Given the description of an element on the screen output the (x, y) to click on. 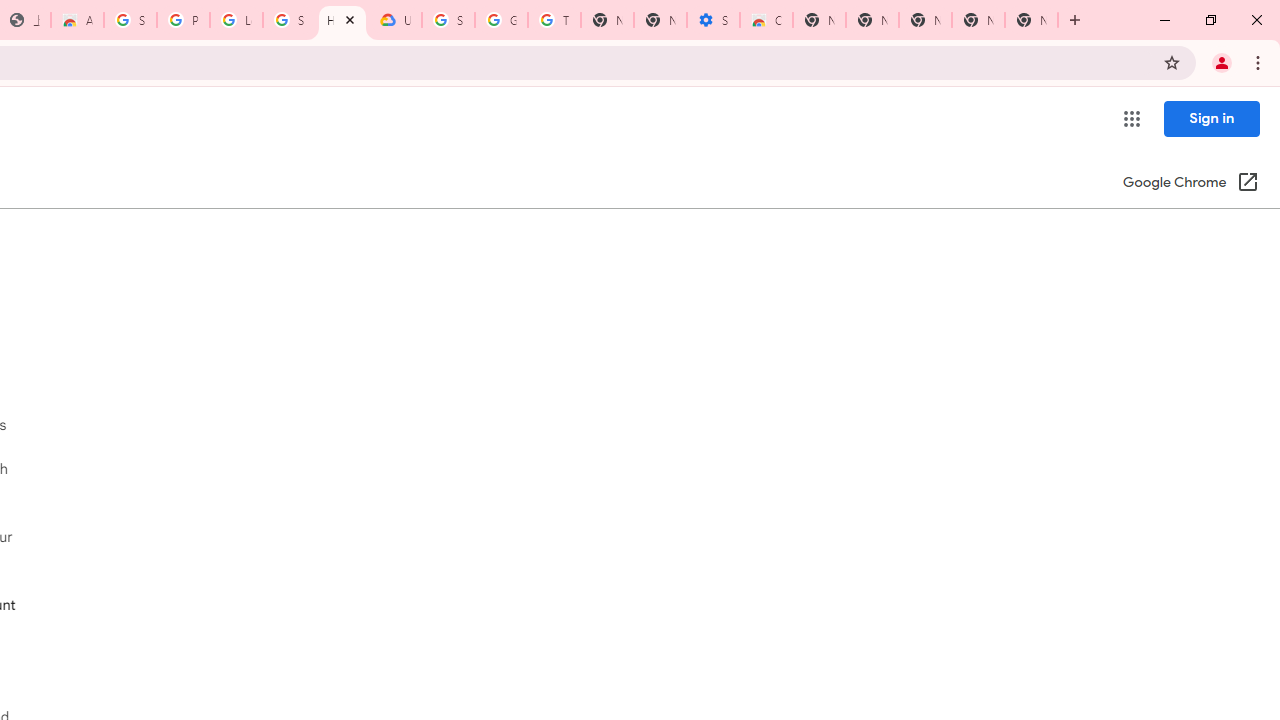
Sign in - Google Accounts (130, 20)
Sign in - Google Accounts (448, 20)
Settings - Accessibility (713, 20)
